Given the description of an element on the screen output the (x, y) to click on. 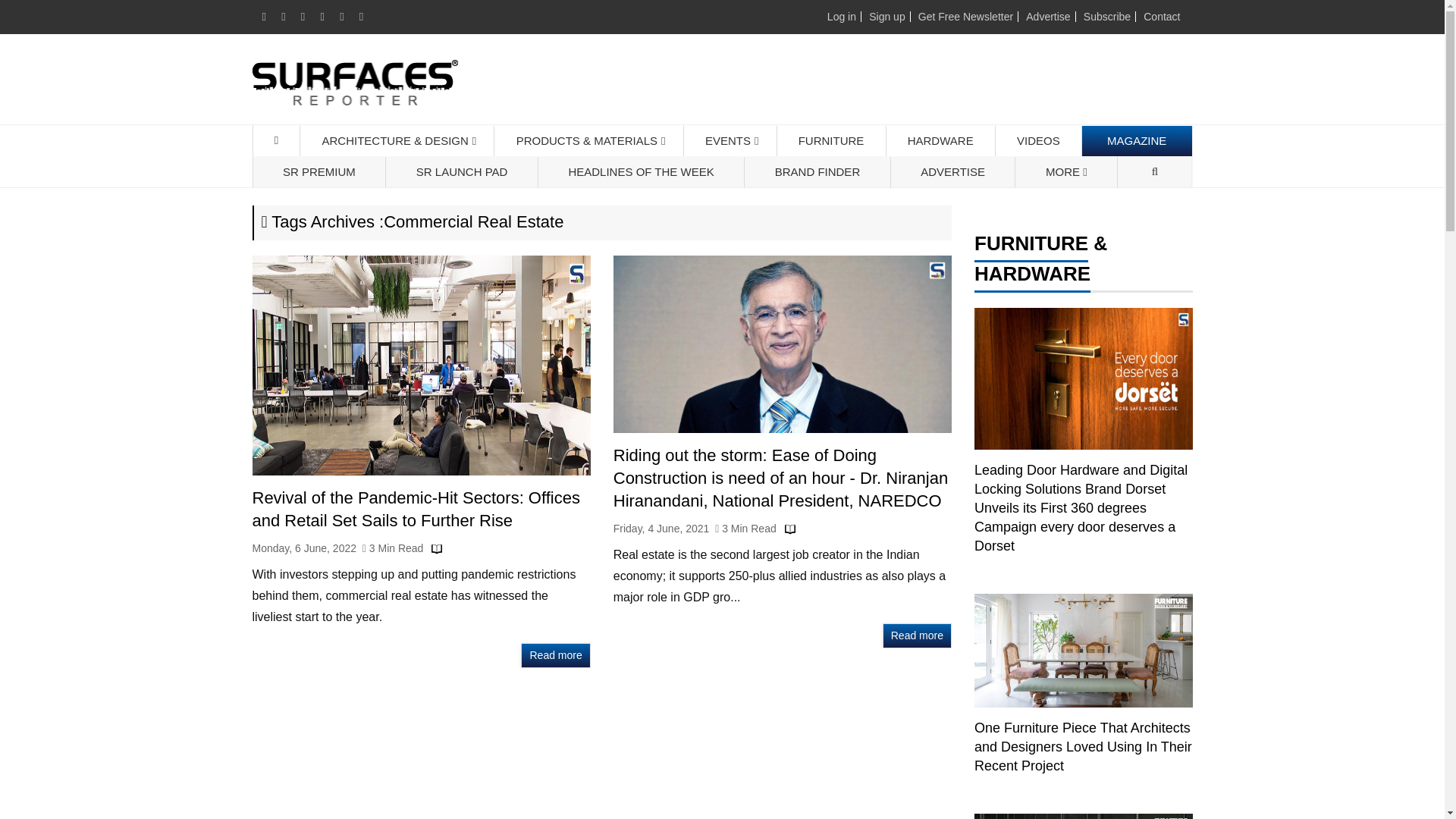
Advertise (1048, 16)
Subscribe (1107, 16)
Contact (1160, 16)
Sign up (886, 16)
Log in (841, 16)
Get Free Newsletter (965, 16)
